Given the description of an element on the screen output the (x, y) to click on. 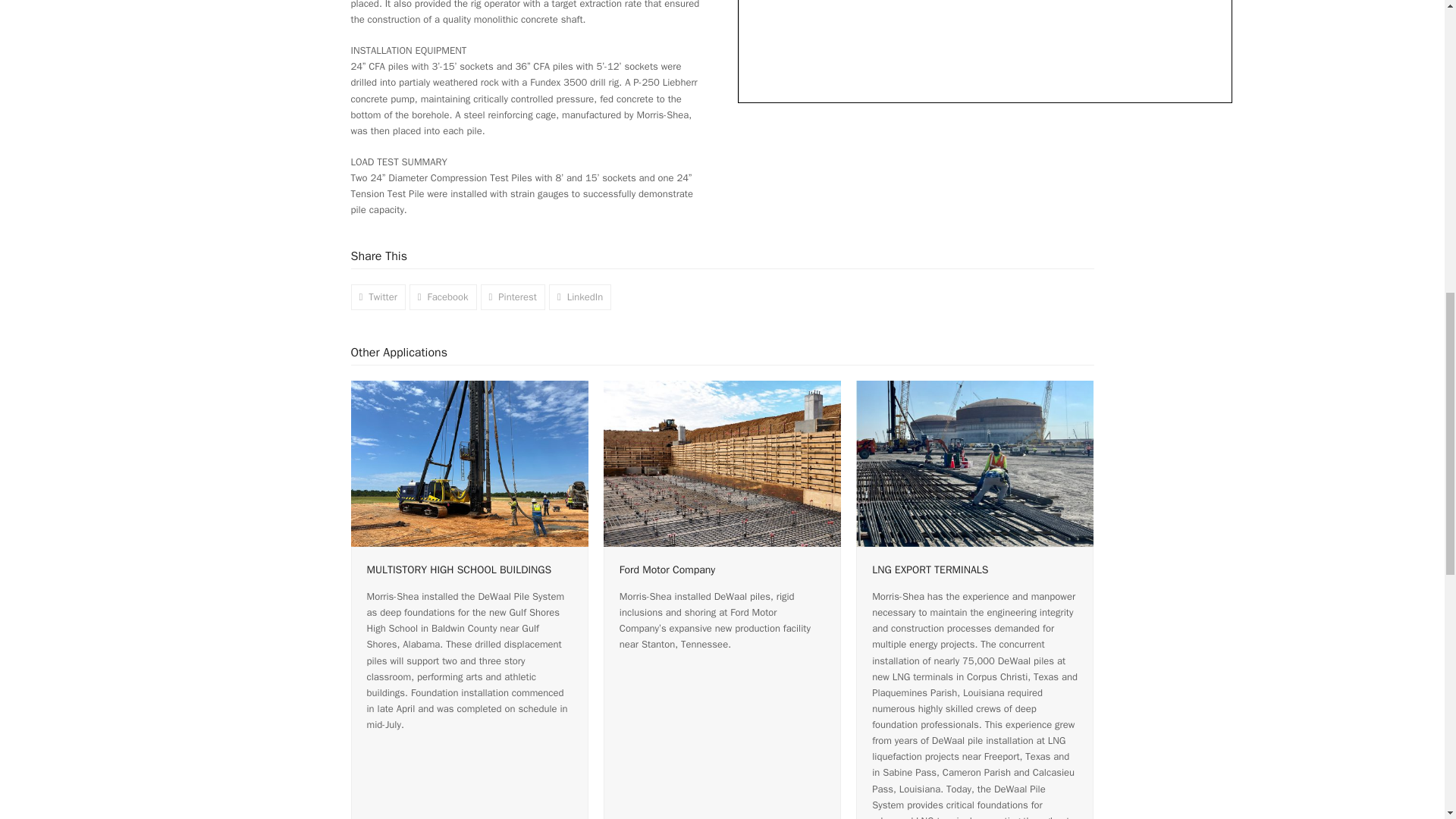
LNG EXPORT TERMINALS (974, 462)
Ford Motor Company (722, 462)
MULTISTORY HIGH SCHOOL BUILDINGS (469, 462)
